Given the description of an element on the screen output the (x, y) to click on. 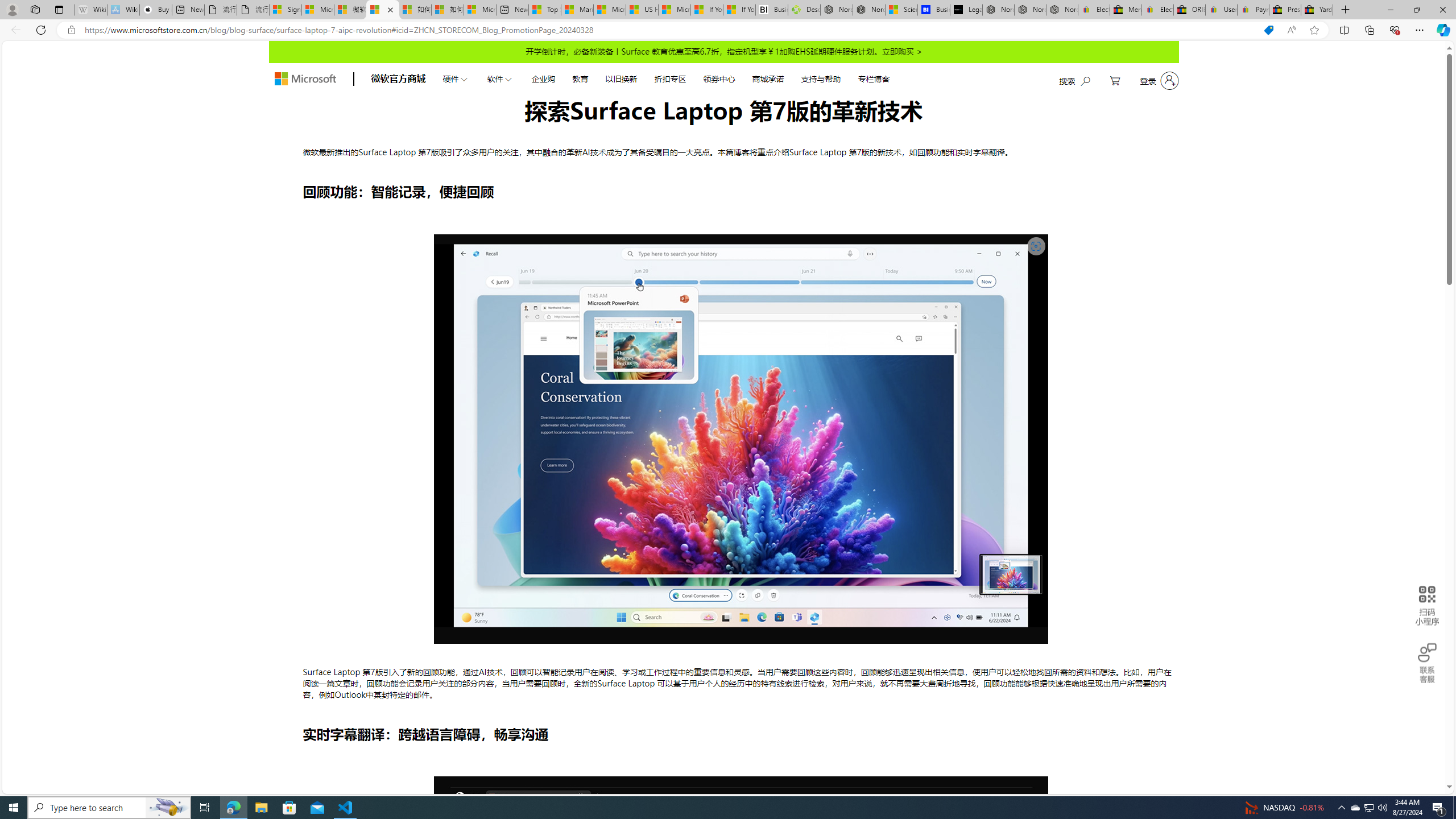
Microsoft (304, 78)
Microsoft account | Account Checkup (479, 9)
Shopping in Microsoft Edge (1268, 29)
User Privacy Notice | eBay (1221, 9)
Press Room - eBay Inc. (1284, 9)
